Given the description of an element on the screen output the (x, y) to click on. 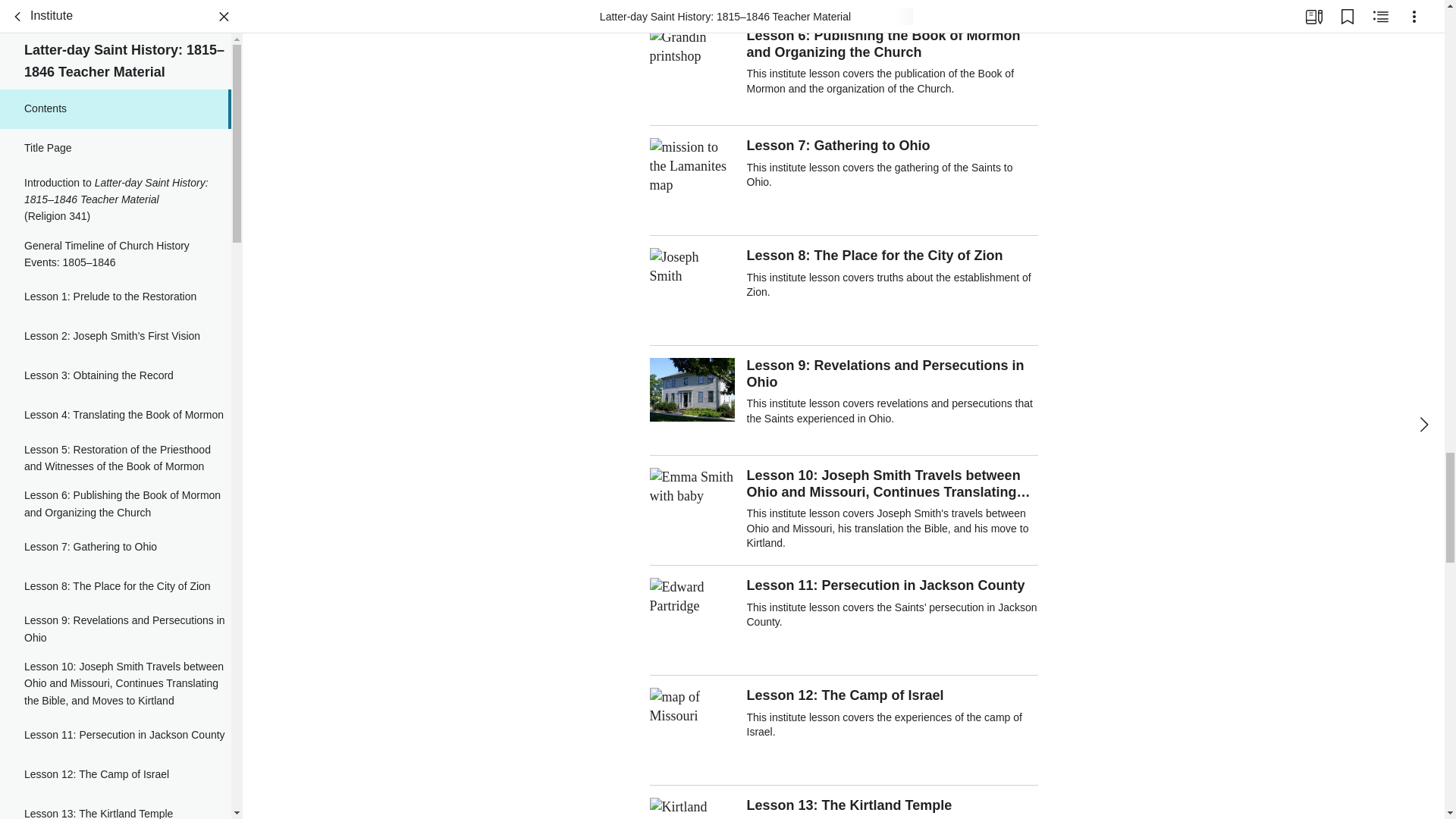
Lesson 19: Experiences in Liberty Jail and Far West (115, 106)
Lesson 24: Doctrinal Developments in Nauvoo (115, 381)
Lesson 20: Nauvoo the Beautiful (115, 148)
Lesson 17: Increasing Conflict in Missouri (115, 18)
